Given the description of an element on the screen output the (x, y) to click on. 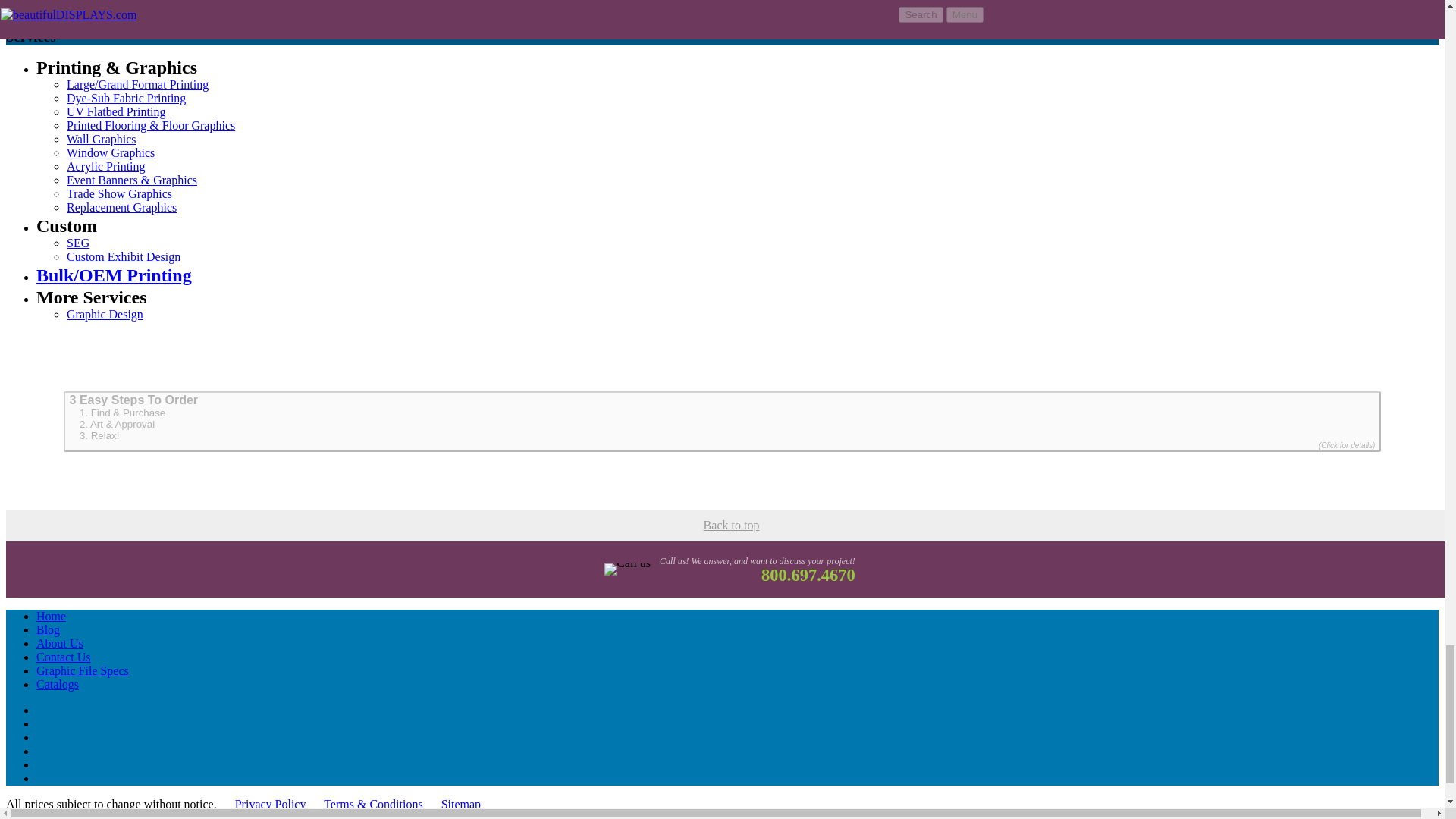
Call us (626, 569)
